Given the description of an element on the screen output the (x, y) to click on. 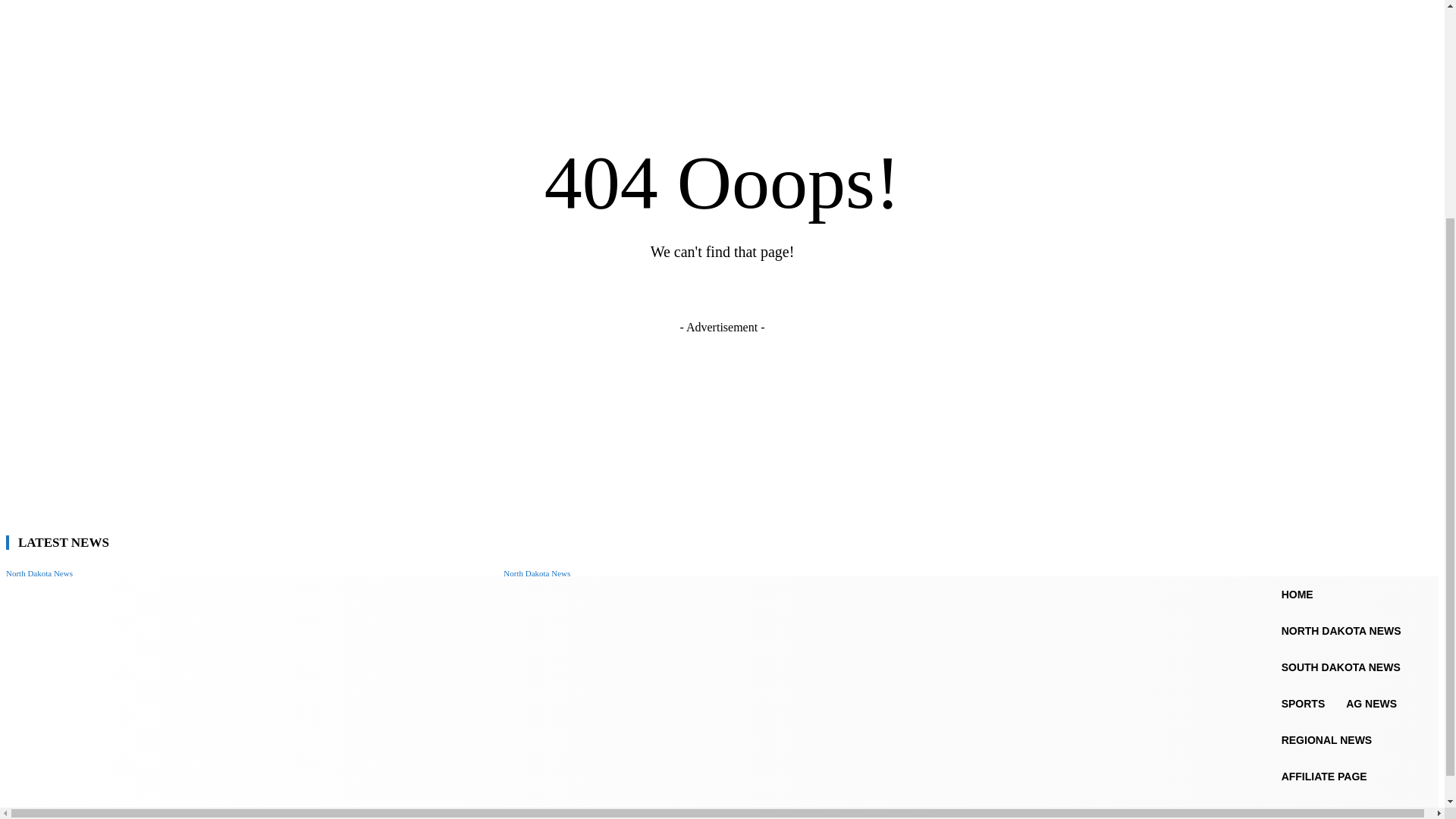
Bismarck Man On Probation For Meth Case Faces New Charges (172, 746)
Paul Bougie (533, 608)
Paul Bougie (35, 686)
Paul Bougie (35, 608)
North Dakota News (536, 573)
North Dakota News (38, 573)
North Dakota News (38, 650)
